Given the description of an element on the screen output the (x, y) to click on. 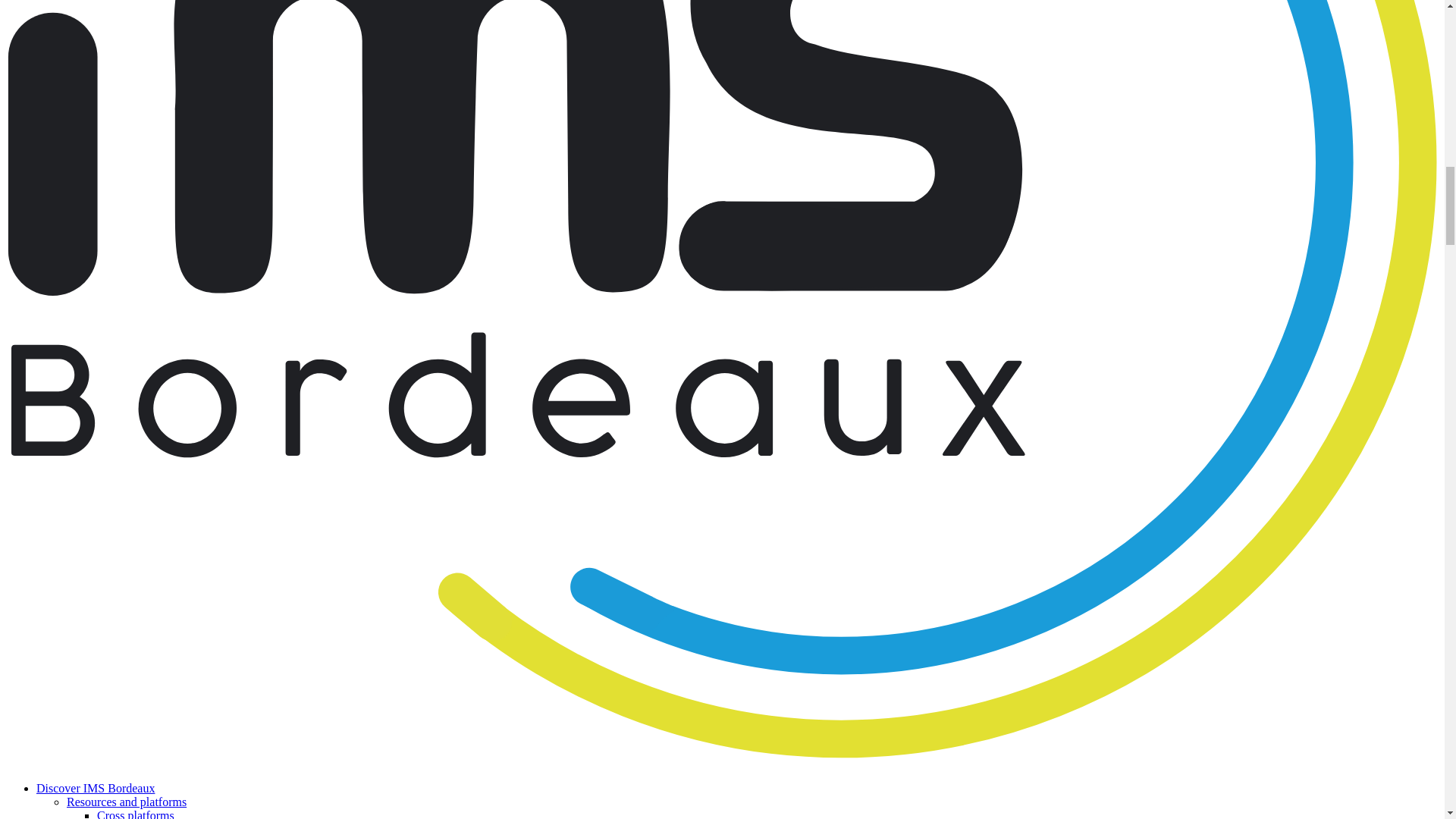
Discover IMS Bordeaux (95, 788)
Cross platforms (135, 814)
Resources and platforms (126, 801)
